Given the description of an element on the screen output the (x, y) to click on. 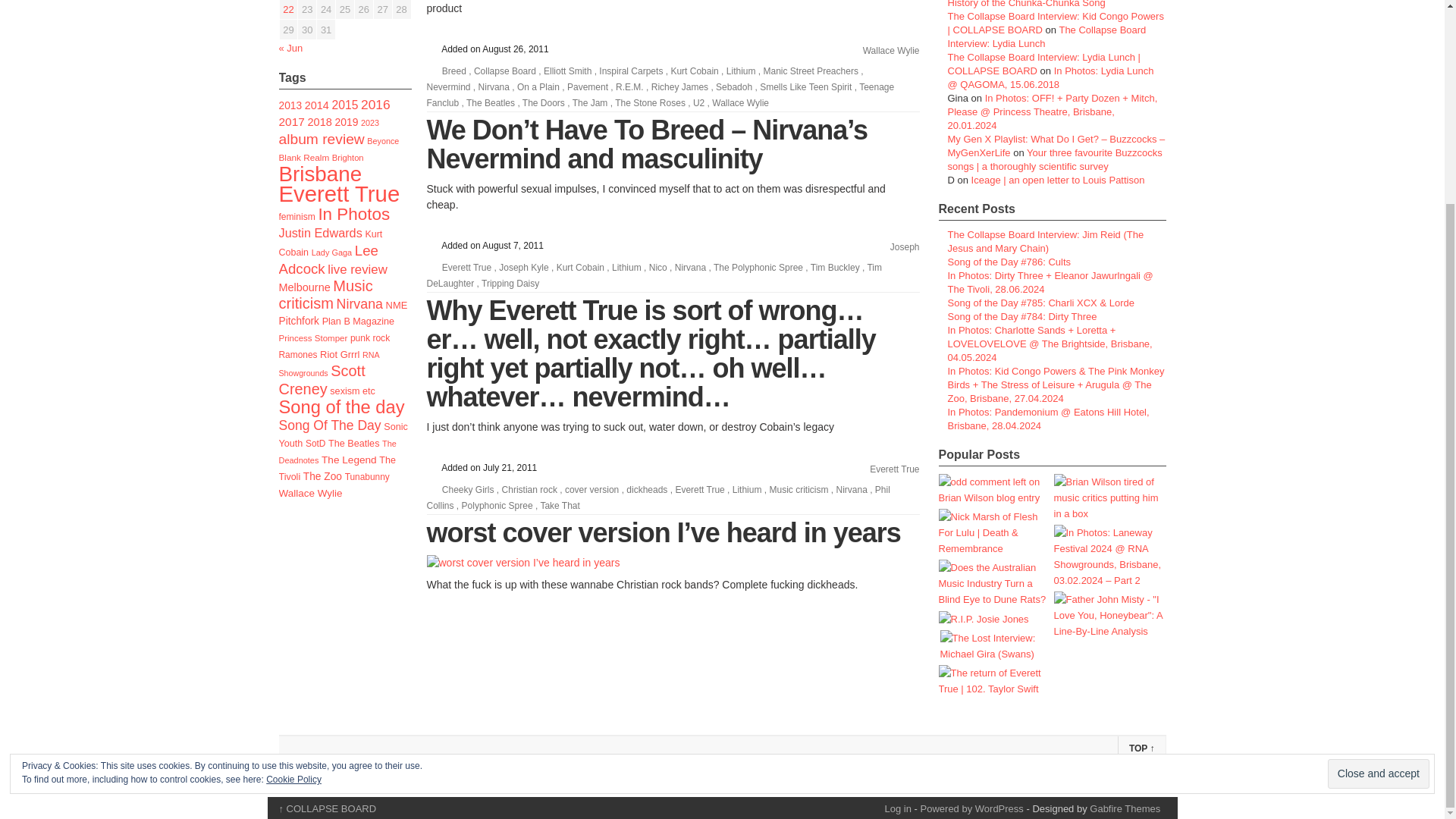
Close and accept (1378, 512)
